Given the description of an element on the screen output the (x, y) to click on. 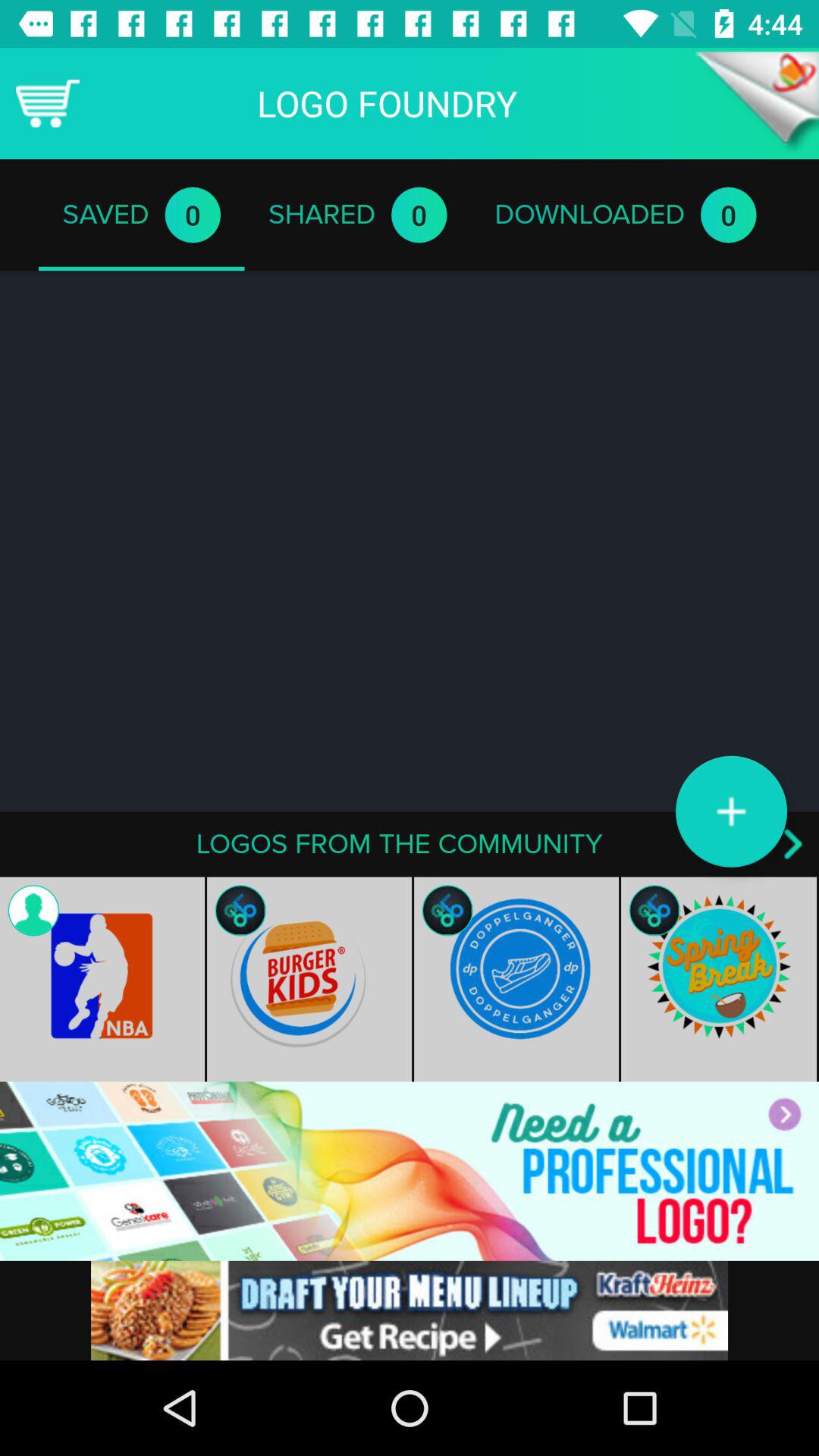
open advertisement (409, 1170)
